Given the description of an element on the screen output the (x, y) to click on. 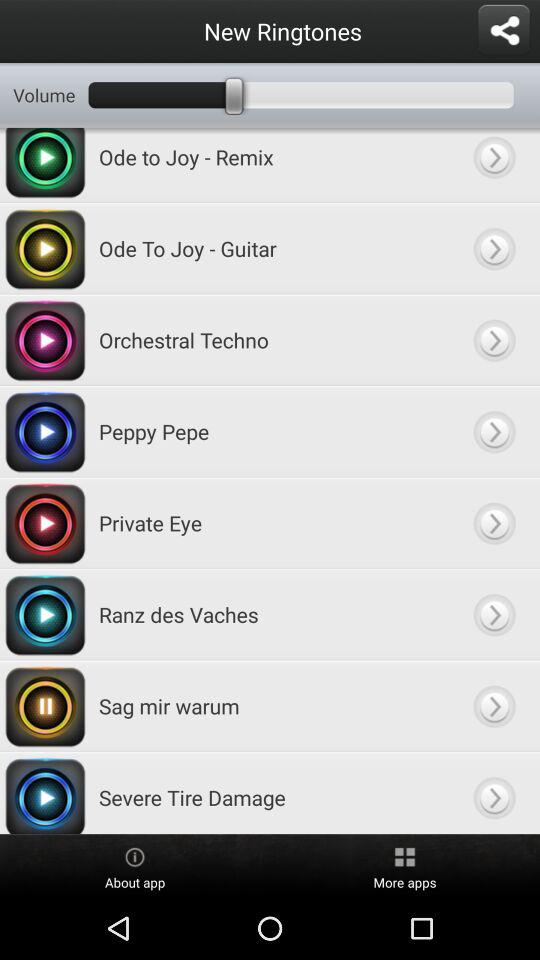
go to back (494, 705)
